Given the description of an element on the screen output the (x, y) to click on. 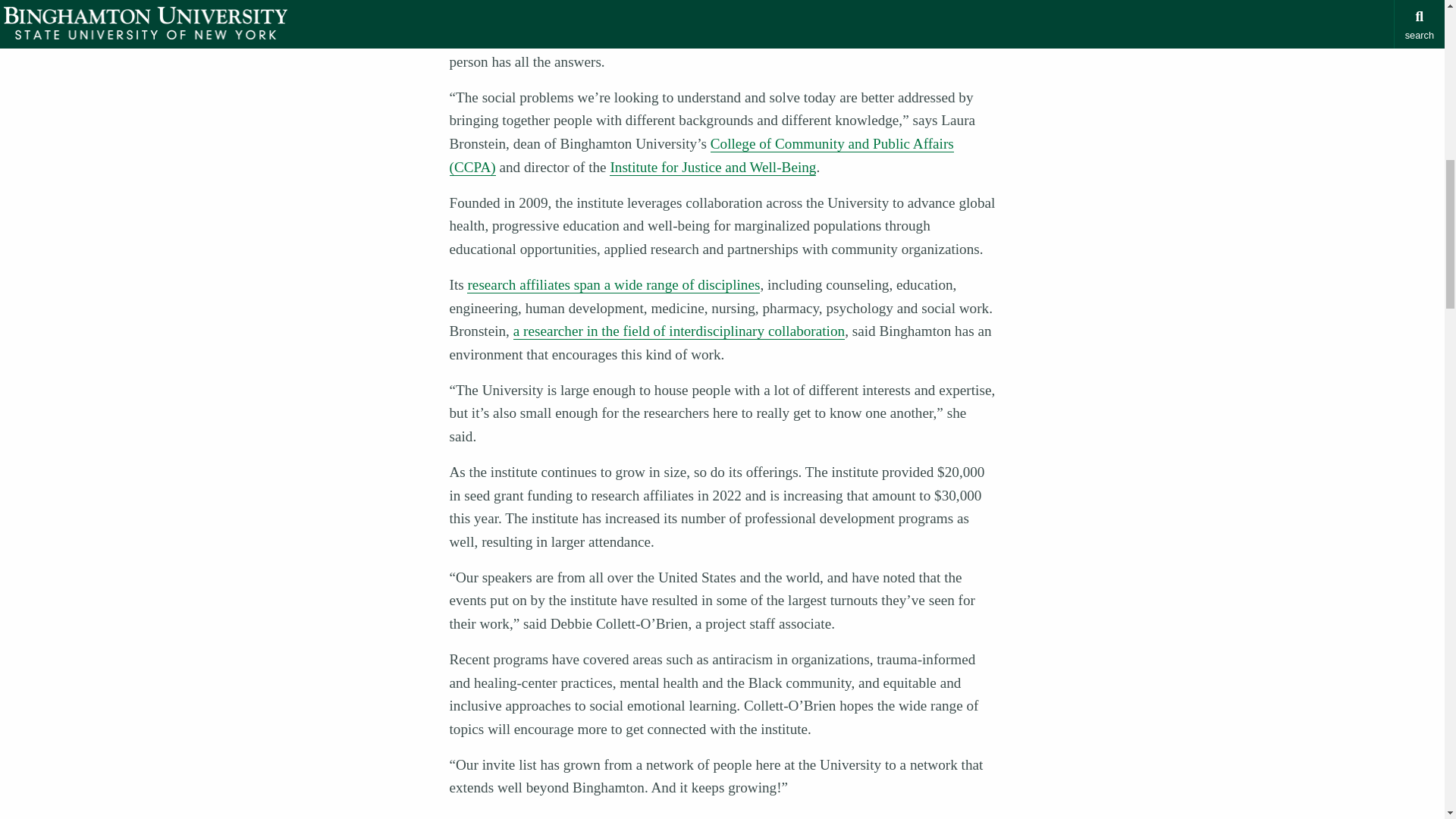
facebook shares (491, 4)
research affiliates span a wide range of disciplines (613, 284)
a researcher in the field of interdisciplinary collaboration (678, 330)
Institute for Justice and Well-Being (712, 167)
